Given the description of an element on the screen output the (x, y) to click on. 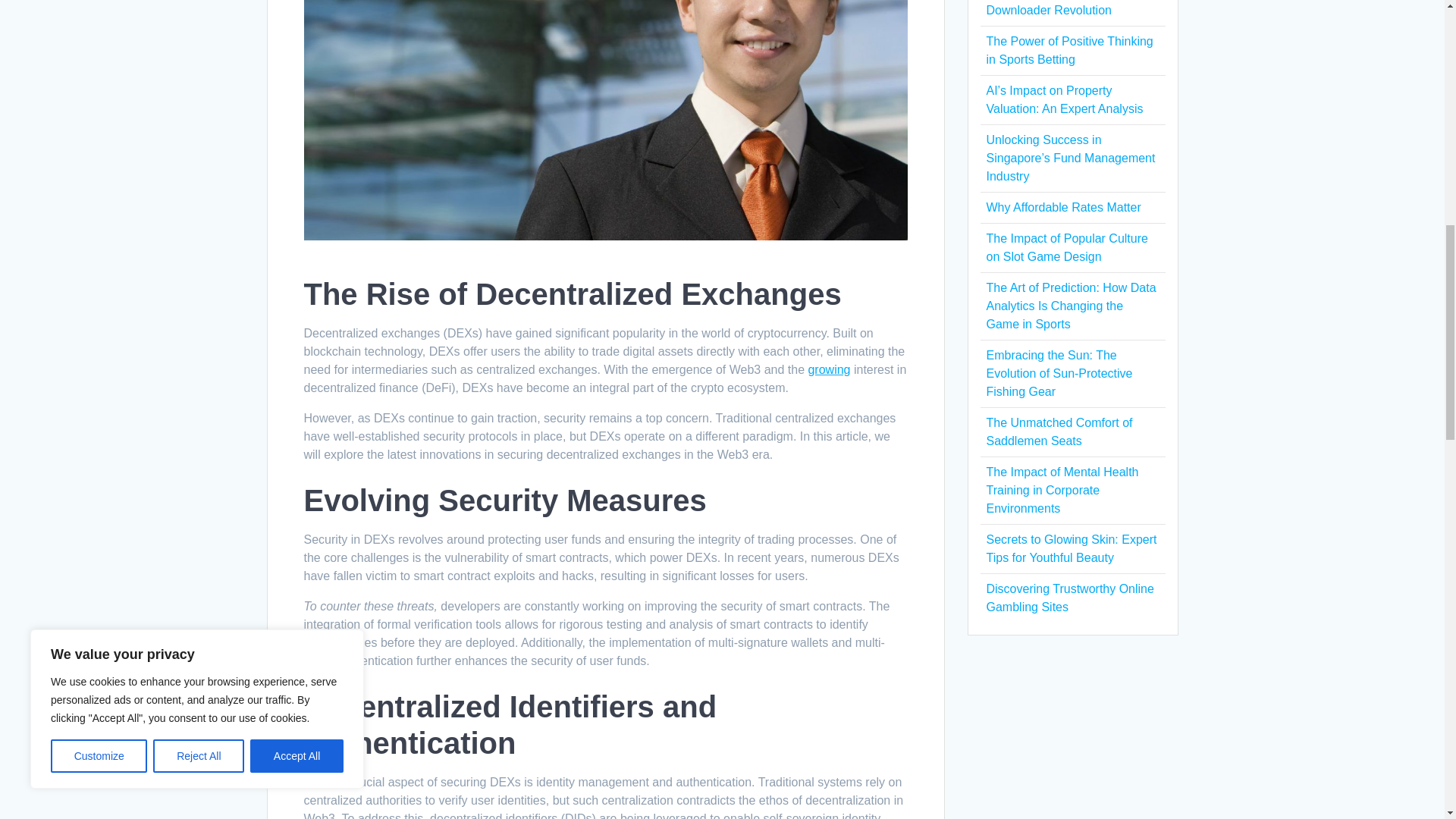
growing (829, 369)
The Pinterest Video Downloader Revolution (1047, 8)
The Power of Positive Thinking in Sports Betting (1069, 50)
The Impact of Popular Culture on Slot Game Design (1066, 246)
Why Affordable Rates Matter (1062, 206)
